Given the description of an element on the screen output the (x, y) to click on. 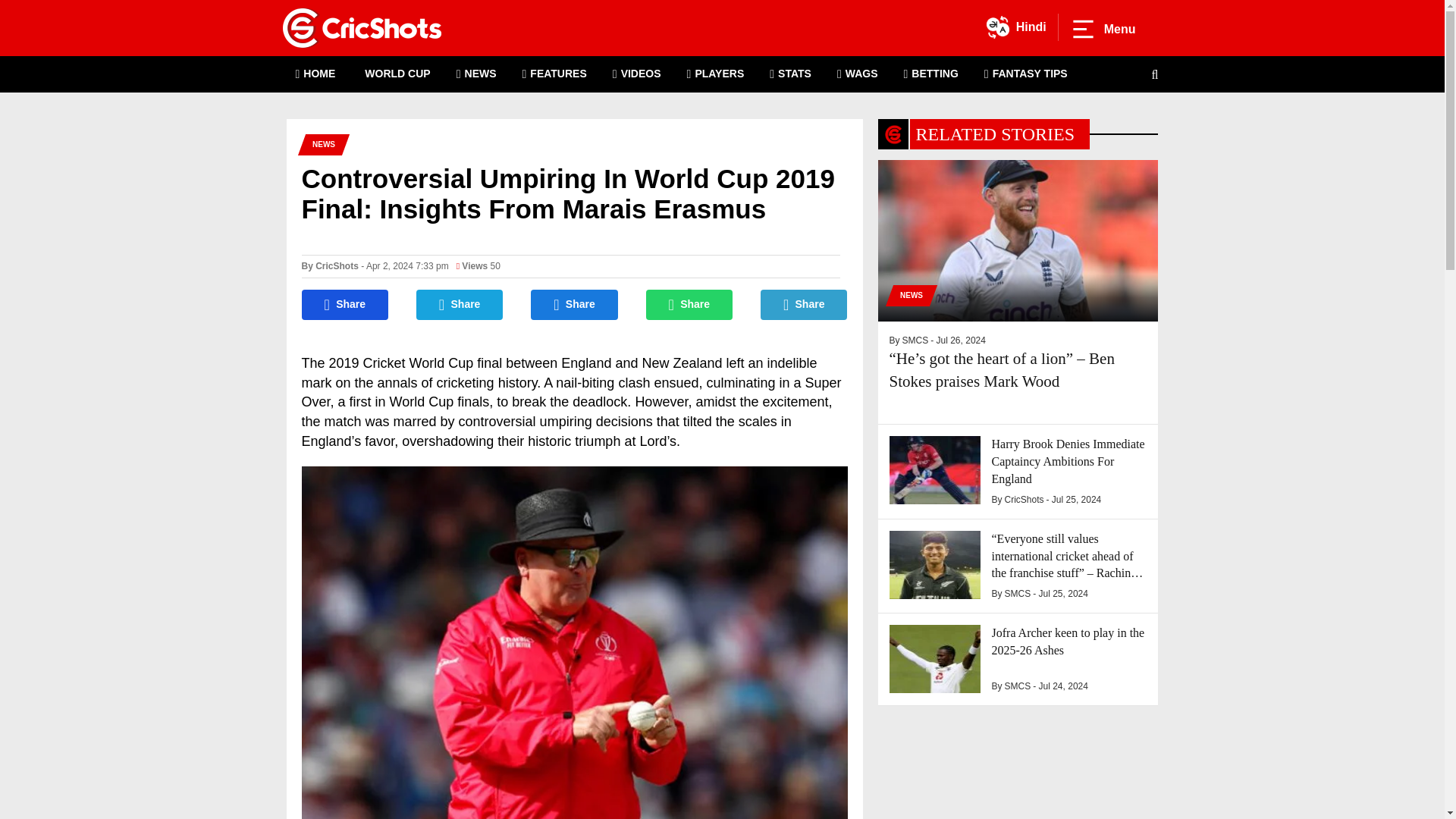
Menu (1102, 29)
NEWS (906, 295)
PLAYERS (716, 74)
Share (344, 304)
Hindi (1016, 26)
Share (689, 304)
HOME (315, 74)
FEATURES (554, 74)
NEWS (475, 74)
WORLD CUP (395, 74)
SMCS (915, 340)
Share (459, 304)
CricShots (336, 266)
Share (803, 304)
WAGS (857, 74)
